Given the description of an element on the screen output the (x, y) to click on. 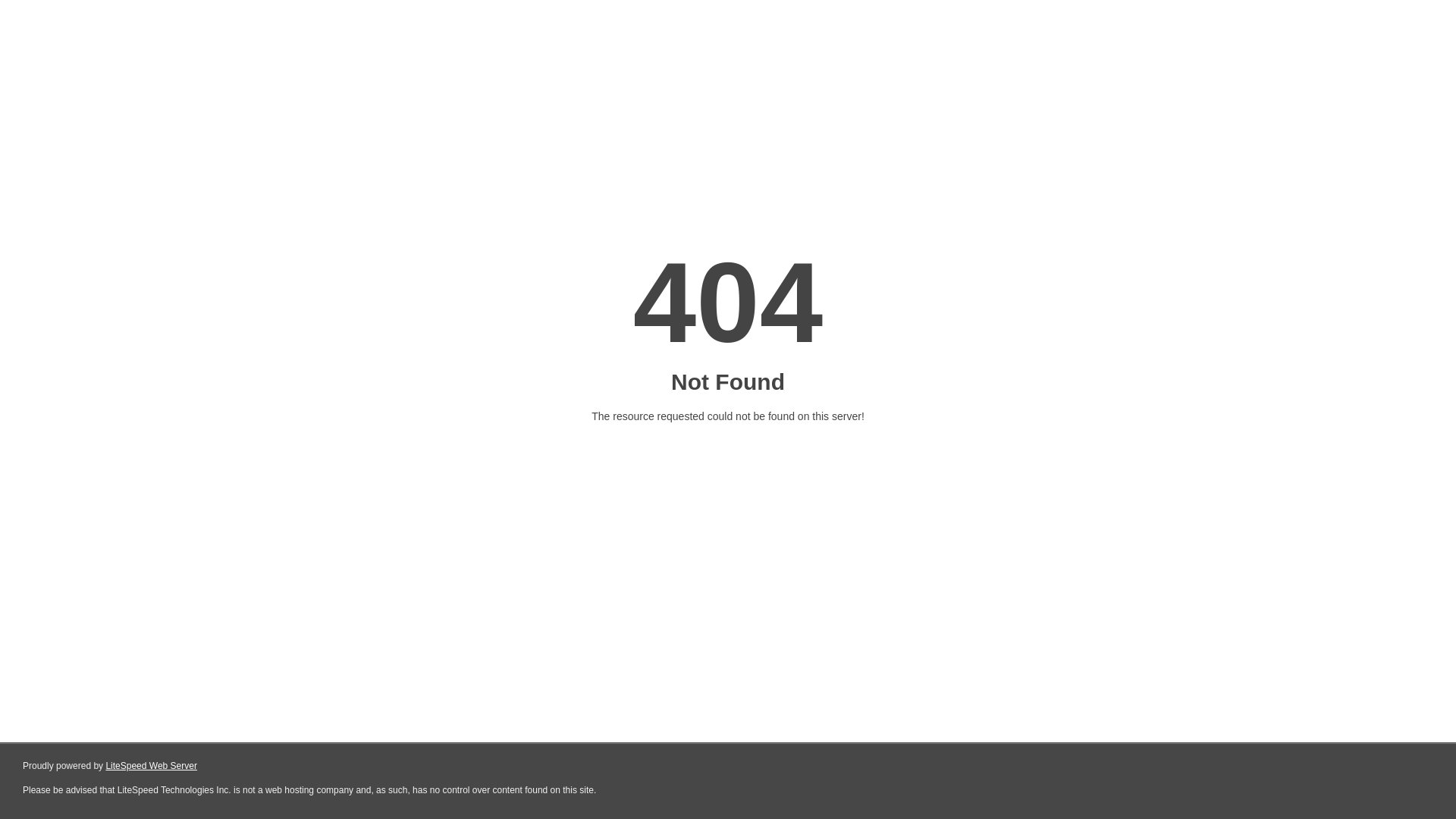
LiteSpeed Web Server Element type: text (151, 765)
